Given the description of an element on the screen output the (x, y) to click on. 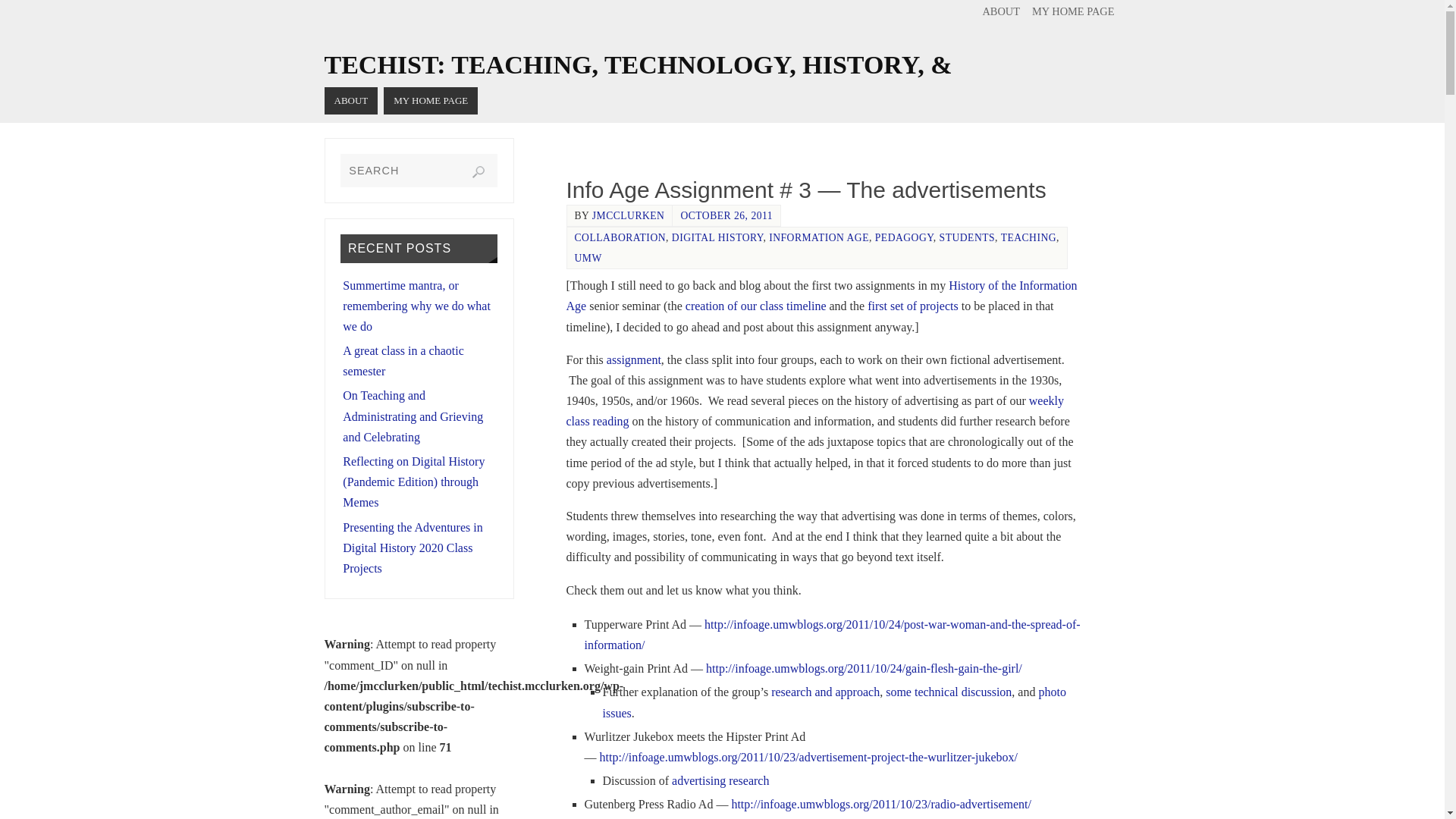
ABOUT (351, 99)
weekly class reading (814, 410)
UMW (588, 257)
assignment (634, 359)
STUDENTS (966, 237)
DIGITAL HISTORY (716, 237)
TEACHING (1029, 237)
ABOUT (1000, 11)
View all posts by jmcclurken (628, 215)
JMCCLURKEN (628, 215)
advertising research (719, 780)
some technical discussion (948, 691)
COLLABORATION (620, 237)
MY HOME PAGE (430, 99)
first set of projects (911, 305)
